Given the description of an element on the screen output the (x, y) to click on. 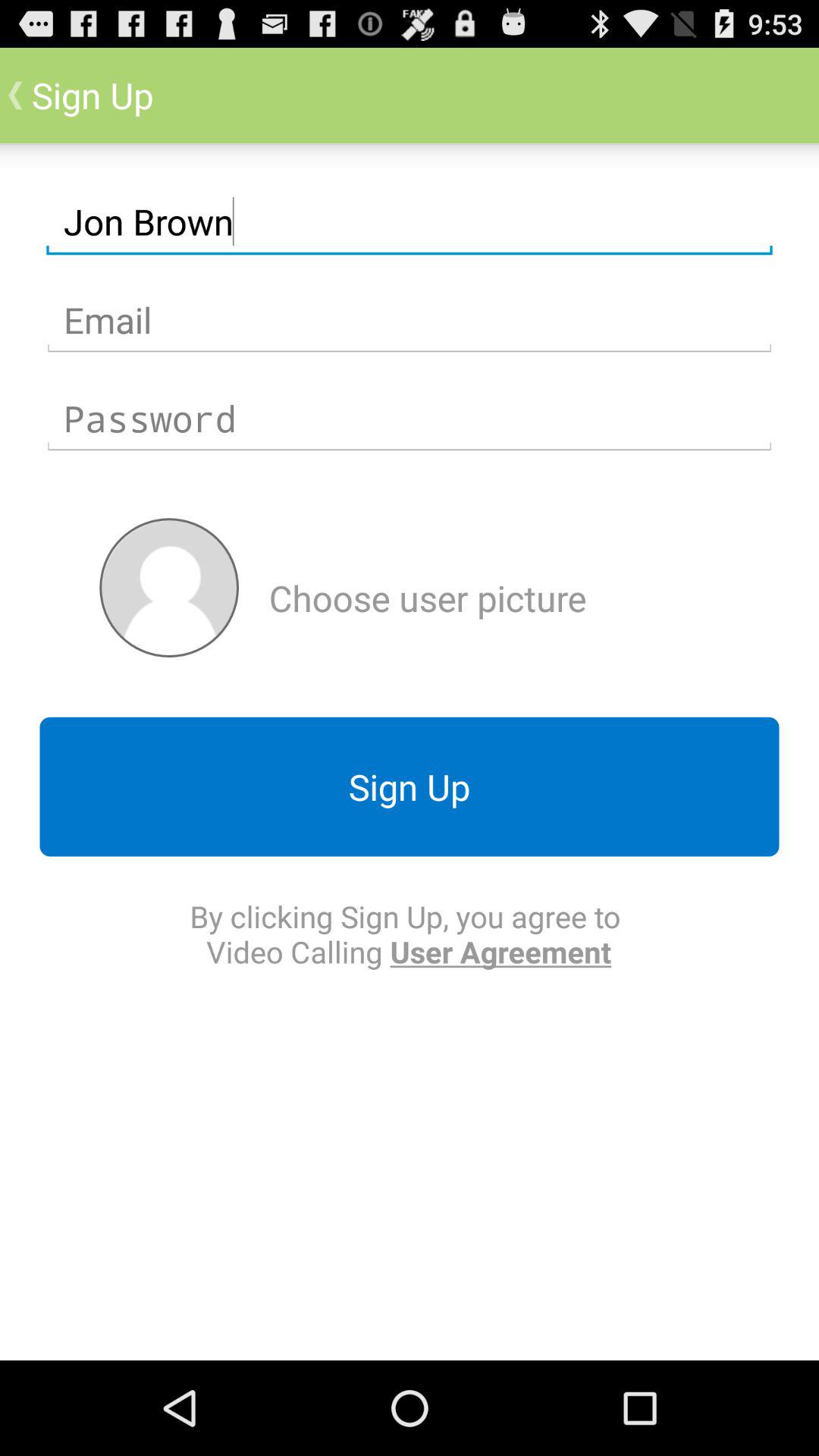
password entry field (409, 418)
